Given the description of an element on the screen output the (x, y) to click on. 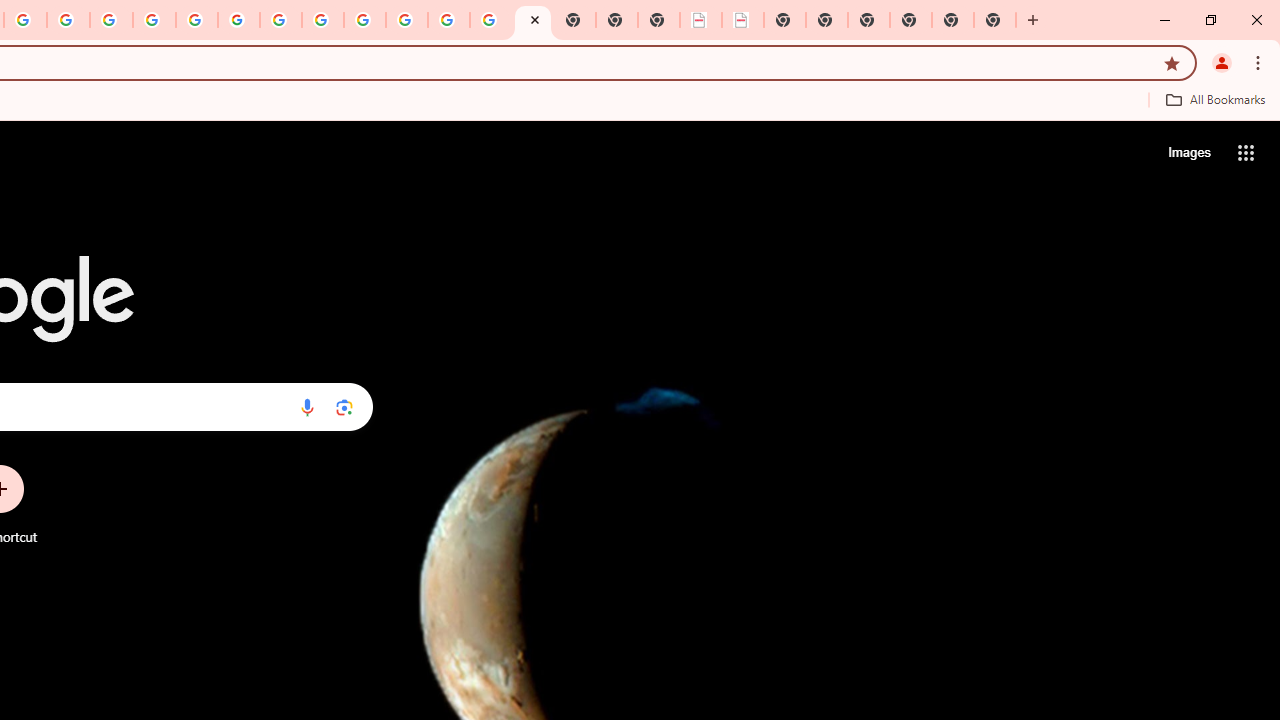
LAAD Defence & Security 2025 | BAE Systems (700, 20)
New Tab (910, 20)
New Tab (868, 20)
Privacy Help Center - Policies Help (111, 20)
BAE Systems Brasil | BAE Systems (742, 20)
